Given the description of an element on the screen output the (x, y) to click on. 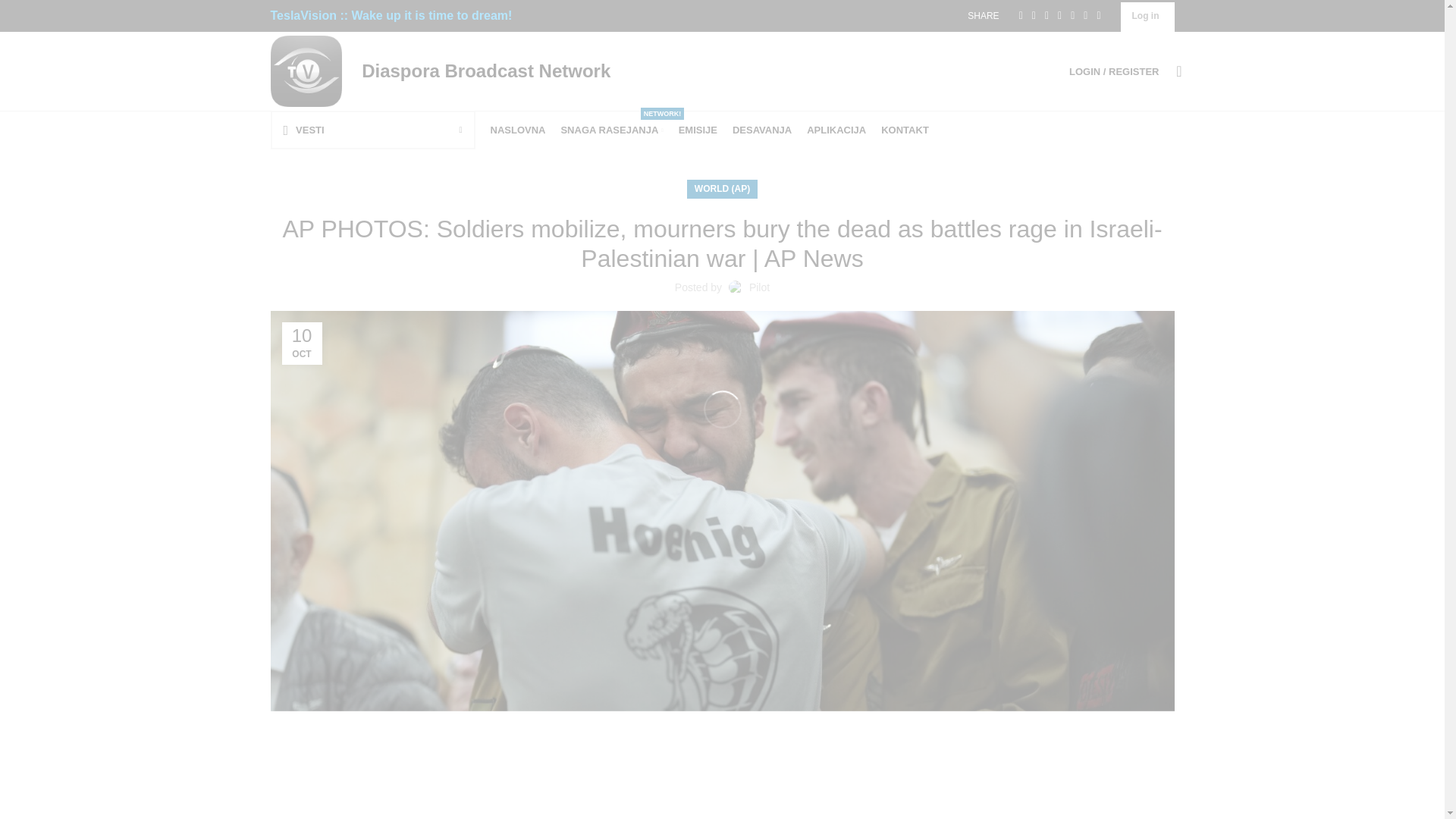
KONTAKT (904, 130)
APLIKACIJA (836, 130)
EMISIJE (697, 130)
Log in (611, 130)
DESAVANJA (1034, 312)
Log in (762, 130)
 Diaspora Broadcast Network (1144, 15)
NASLOVNA (483, 70)
My account (516, 130)
